Given the description of an element on the screen output the (x, y) to click on. 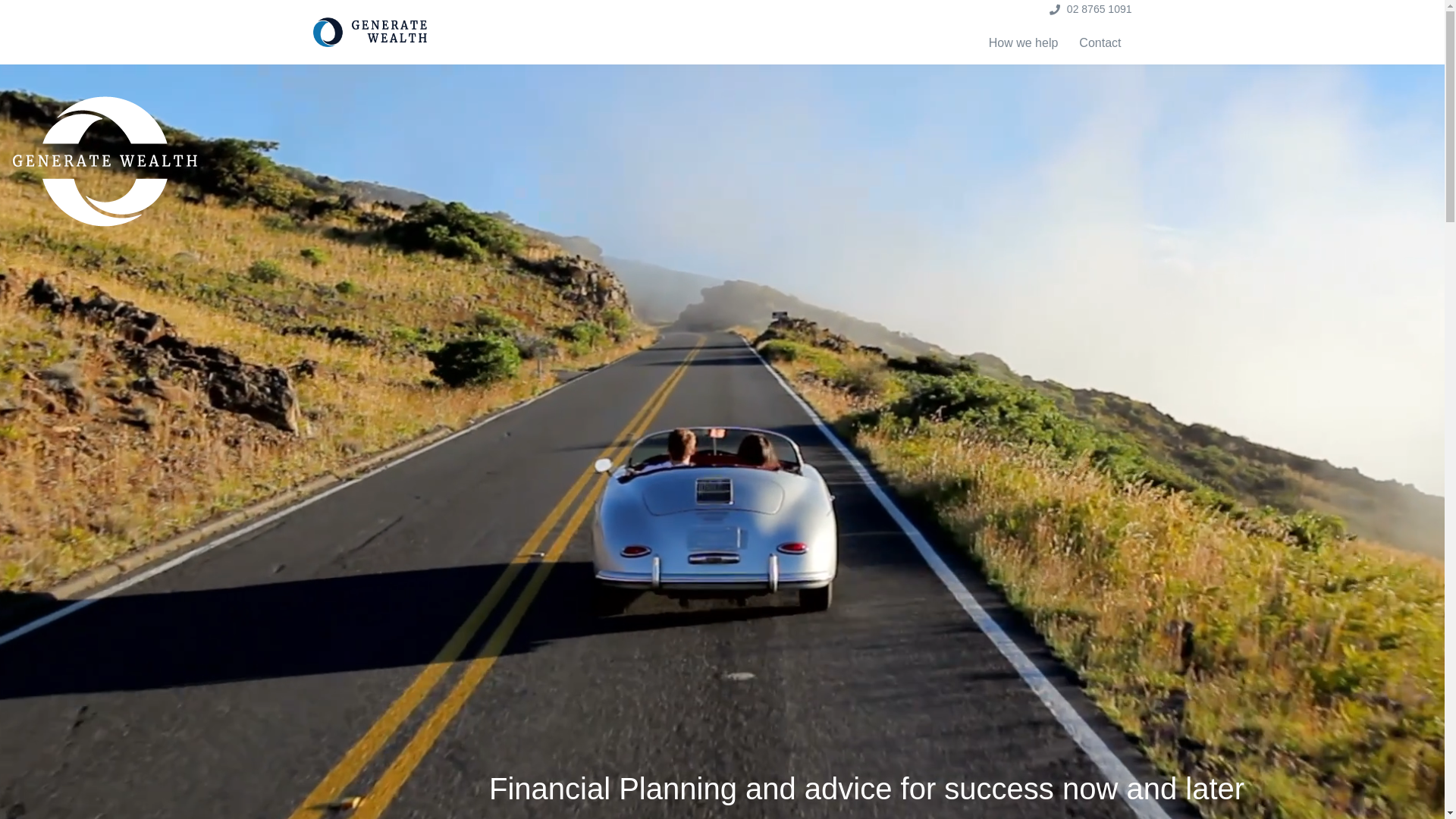
How we help Element type: text (1028, 42)
Contact Element type: text (1099, 42)
